Given the description of an element on the screen output the (x, y) to click on. 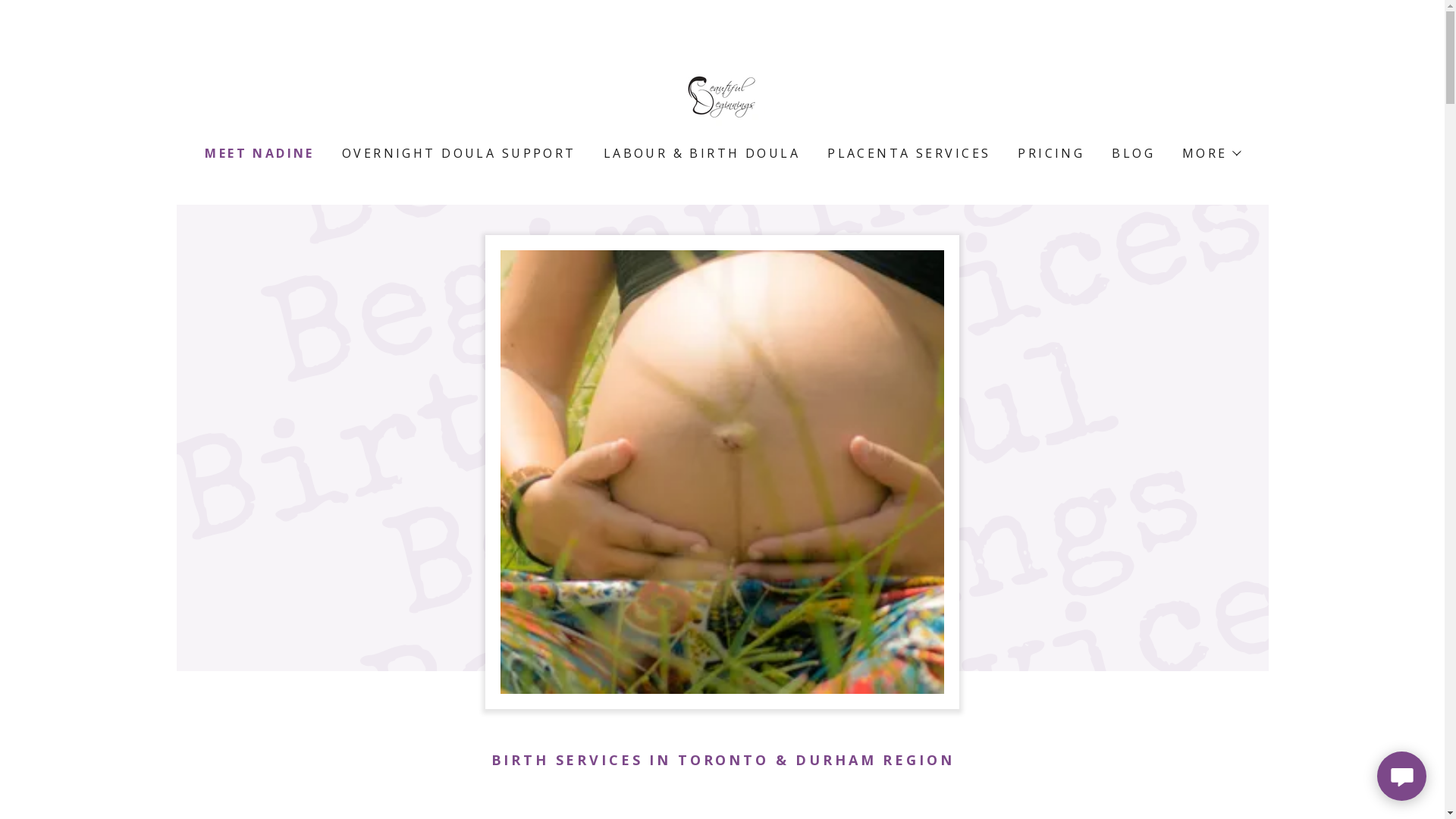
PLACENTA SERVICES Element type: text (906, 152)
BLOG Element type: text (1131, 152)
MORE Element type: text (1210, 153)
Beautiful Beginnings Birth Services Element type: hover (722, 93)
OVERNIGHT DOULA SUPPORT Element type: text (457, 152)
MEET NADINE Element type: text (257, 153)
LABOUR & BIRTH DOULA Element type: text (700, 152)
PRICING Element type: text (1049, 152)
